Given the description of an element on the screen output the (x, y) to click on. 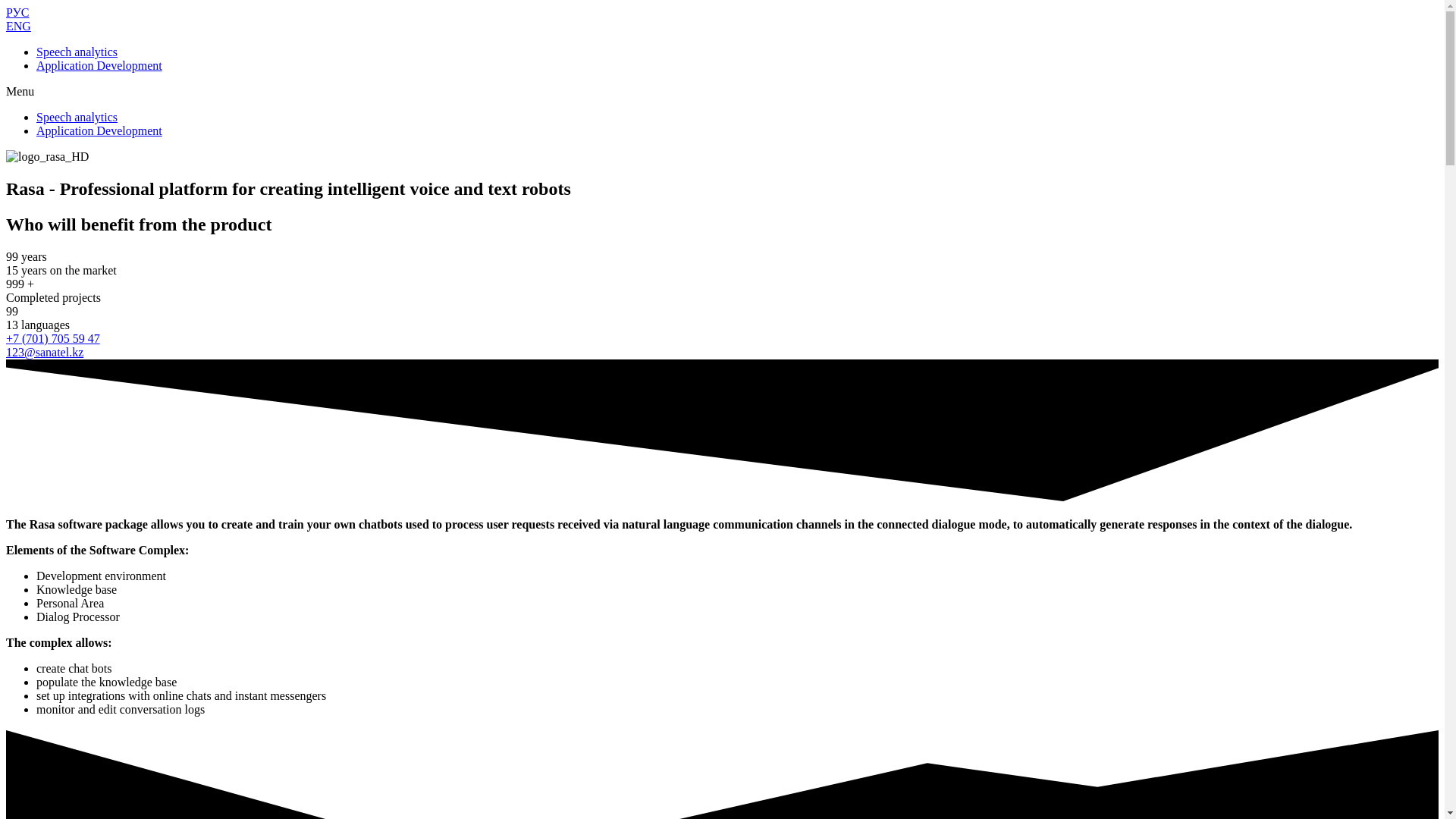
ENG (17, 25)
Speech analytics (76, 51)
Application Development (98, 130)
Speech analytics (76, 116)
Application Development (98, 65)
